Given the description of an element on the screen output the (x, y) to click on. 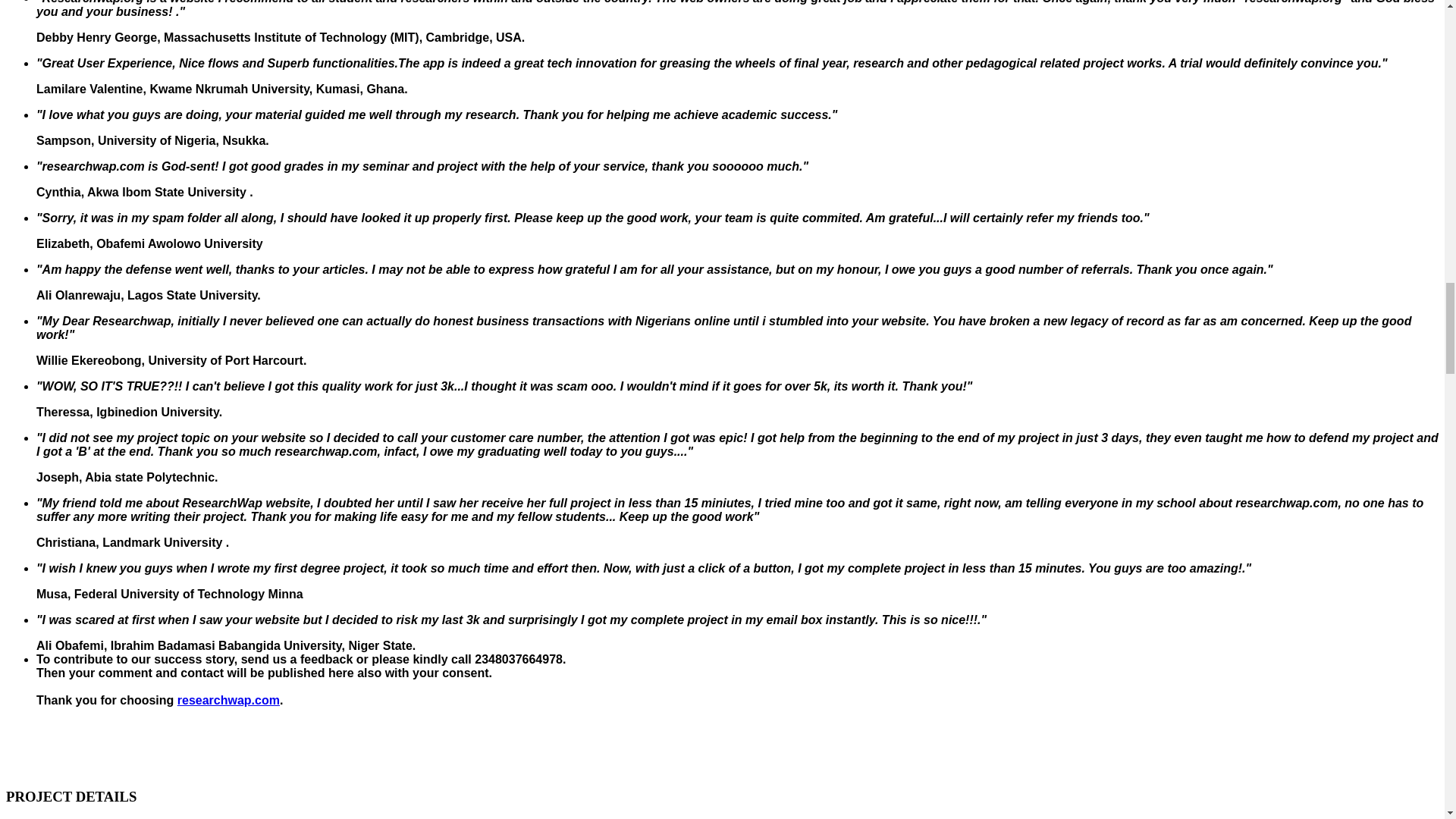
researchwap.com (228, 699)
